Given the description of an element on the screen output the (x, y) to click on. 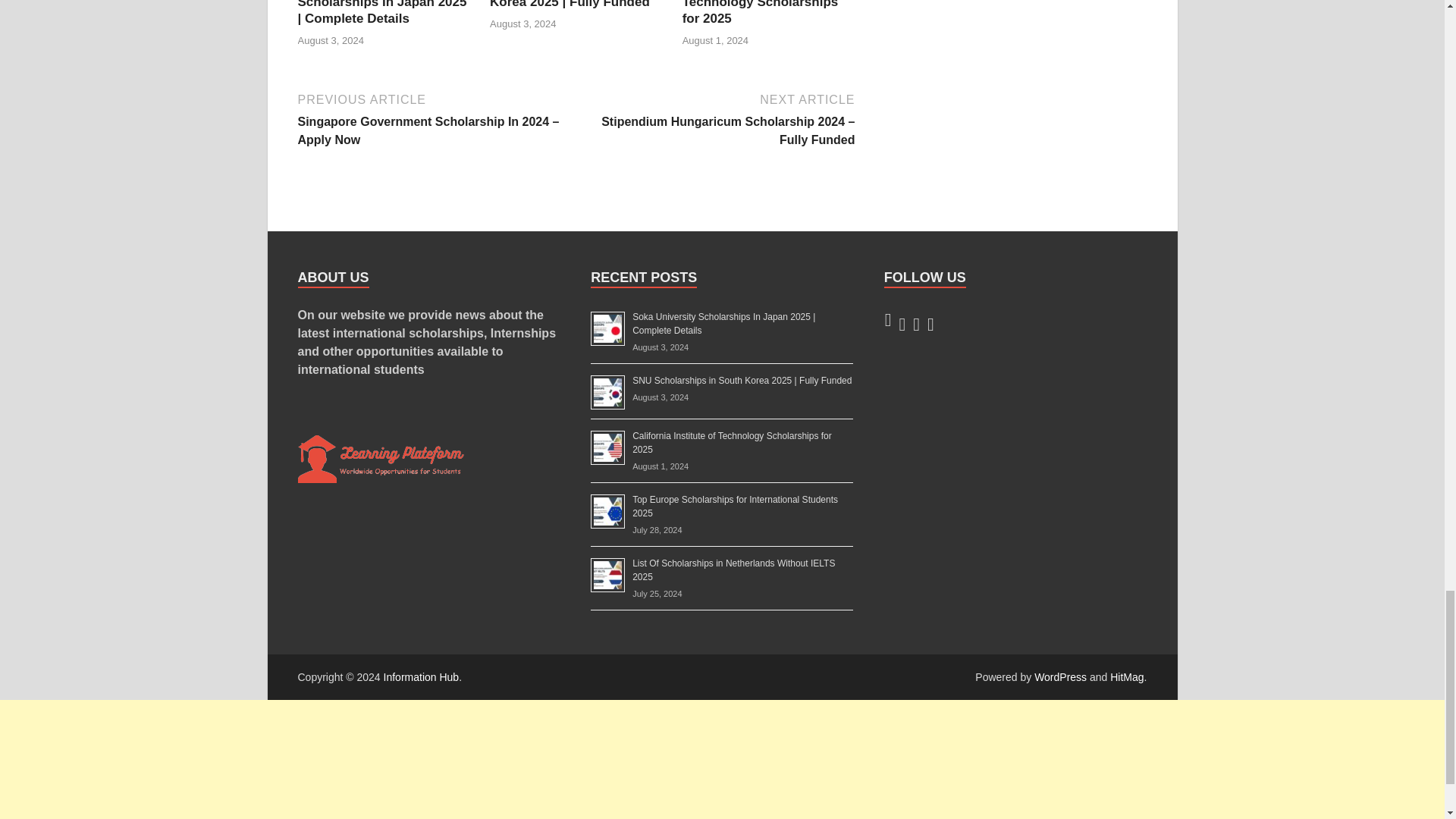
WordPress (1059, 676)
HitMag WordPress Theme (1125, 676)
Information Hub (422, 676)
California Institute of Technology Scholarships for 2025 (760, 12)
